Given the description of an element on the screen output the (x, y) to click on. 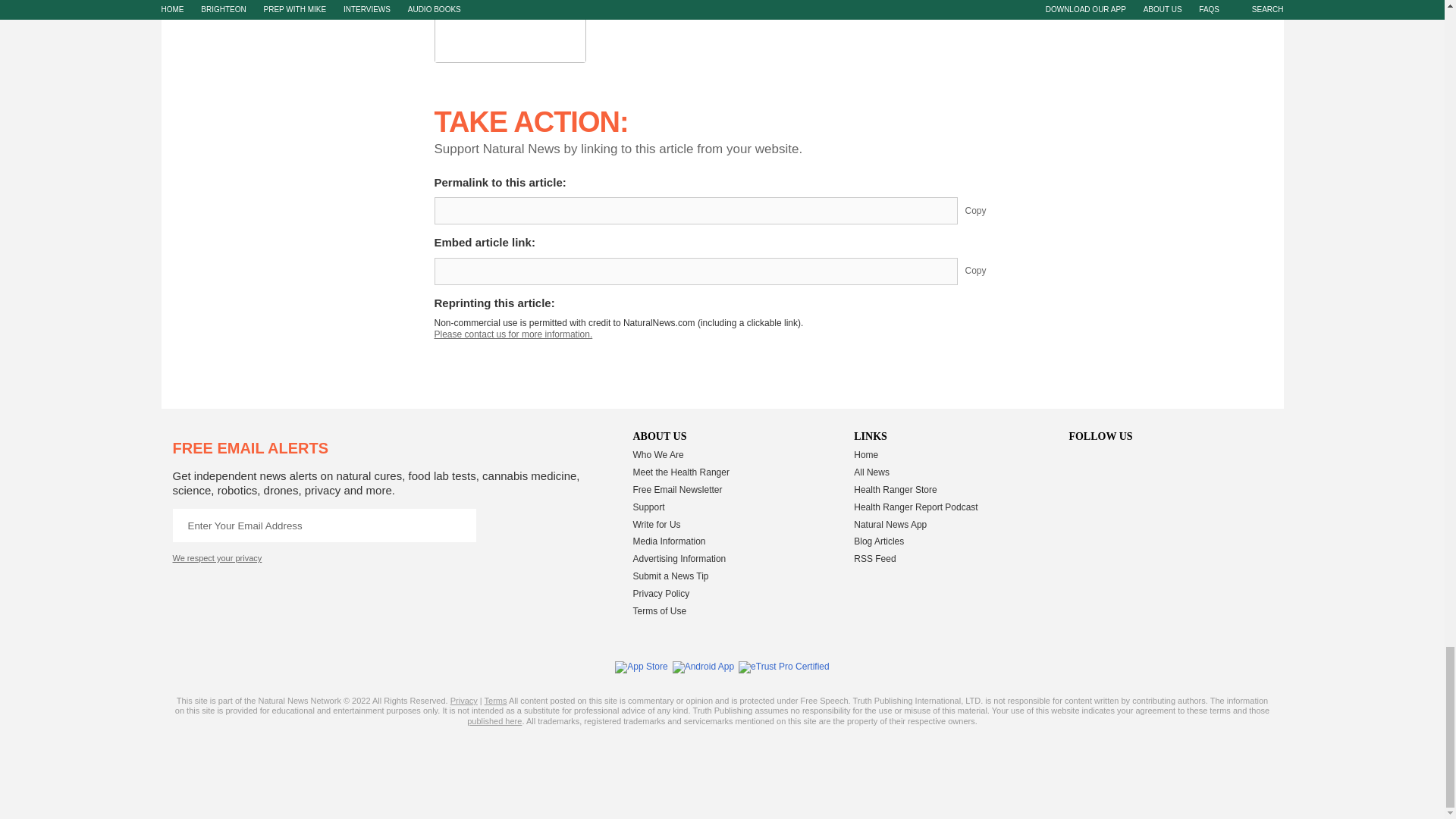
eTrust Pro Certified (783, 666)
Copy Embed Link (986, 271)
Copy Permalink (986, 210)
Continue (459, 525)
